Given the description of an element on the screen output the (x, y) to click on. 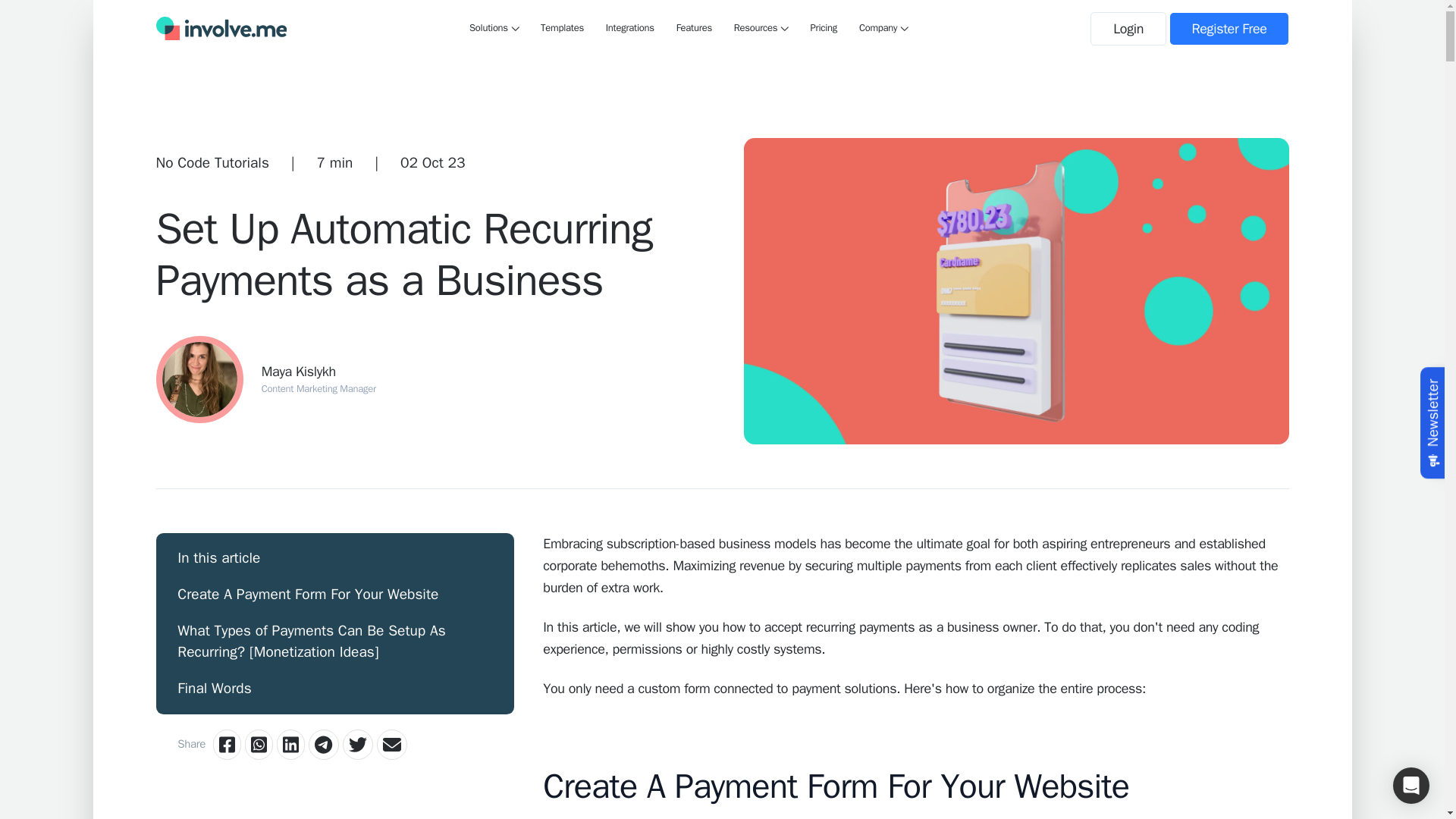
Integrations (629, 28)
Solutions (493, 28)
Features (694, 28)
Company (883, 28)
Pricing (824, 28)
Templates (561, 28)
Resources (761, 28)
